Given the description of an element on the screen output the (x, y) to click on. 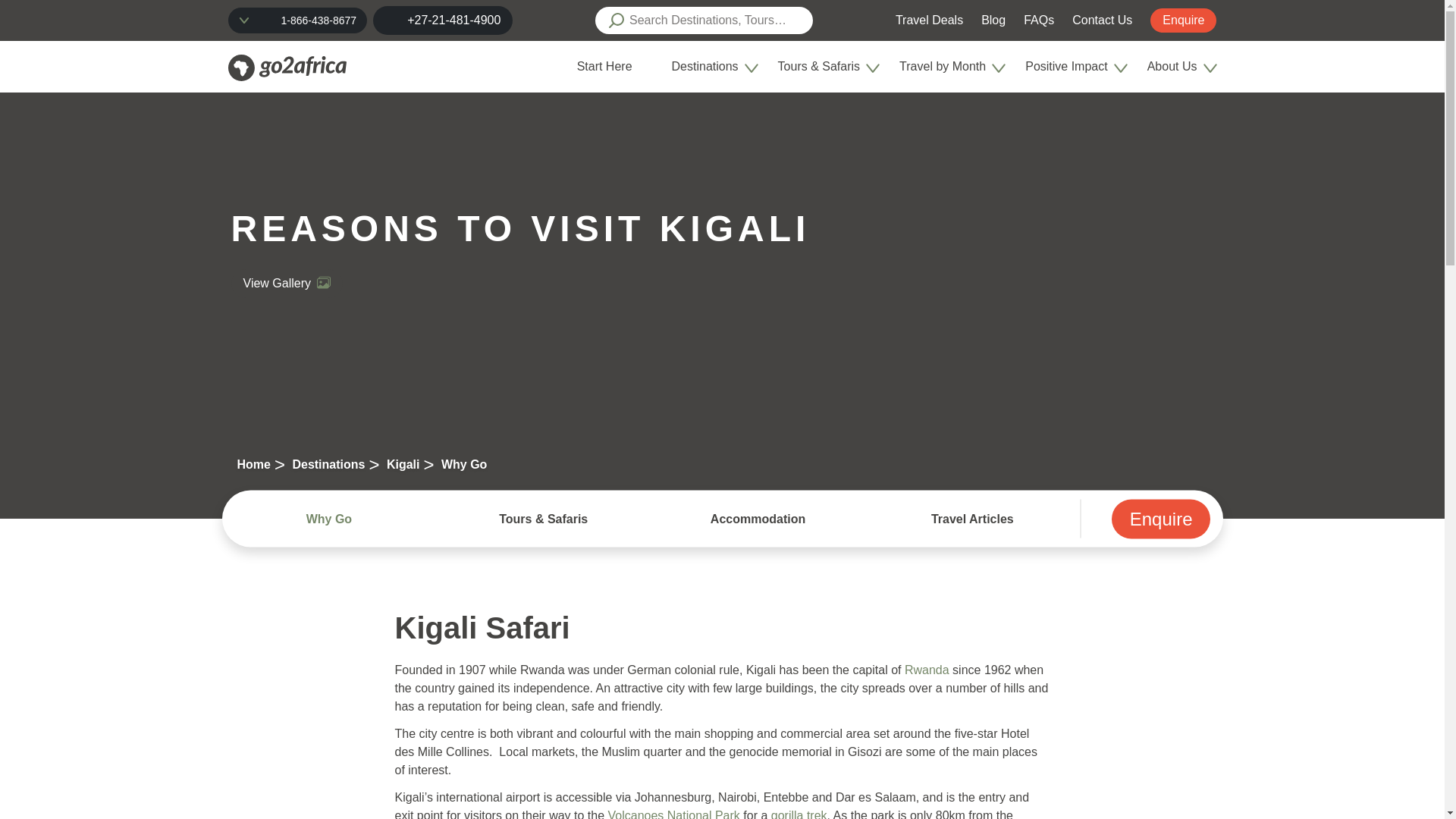
Contact Us (1101, 20)
1-866-438-8677 (296, 20)
Start Here (610, 66)
1-866-438-8677 (318, 20)
Blog (993, 20)
FAQs (1038, 20)
Travel Deals (928, 20)
Destinations (704, 65)
Start Here (603, 65)
Volcanoes National Park safari (673, 814)
